Given the description of an element on the screen output the (x, y) to click on. 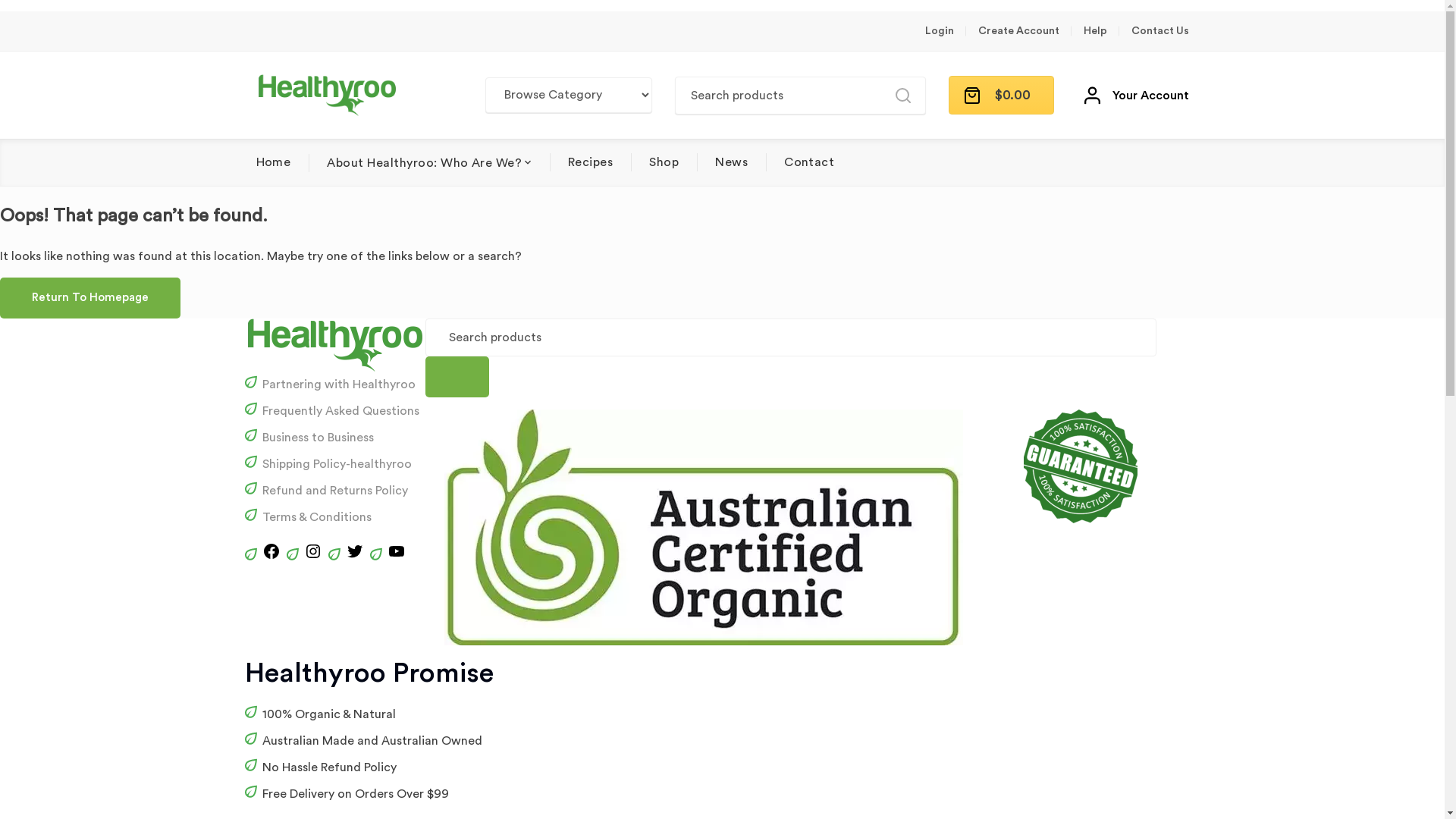
Business to Business Element type: text (317, 437)
Login Element type: text (939, 30)
Home Element type: text (273, 162)
Create Account Element type: text (1018, 30)
Shop Element type: text (663, 162)
Contact Element type: text (809, 162)
Contact Us Element type: text (1160, 30)
About Healthyroo: Who Are We? Element type: text (428, 162)
Refund and Returns Policy Element type: text (334, 490)
Recipes Element type: text (589, 162)
Your Account Element type: text (1136, 95)
Frequently Asked Questions Element type: text (340, 410)
Help Element type: text (1094, 30)
Partnering with Healthyroo Element type: text (338, 384)
Healthyroo Element type: hover (327, 95)
Terms & Conditions Element type: text (316, 517)
Return To Homepage Element type: text (90, 297)
News Element type: text (731, 162)
Shipping Policy-healthyroo Element type: text (336, 464)
